Given the description of an element on the screen output the (x, y) to click on. 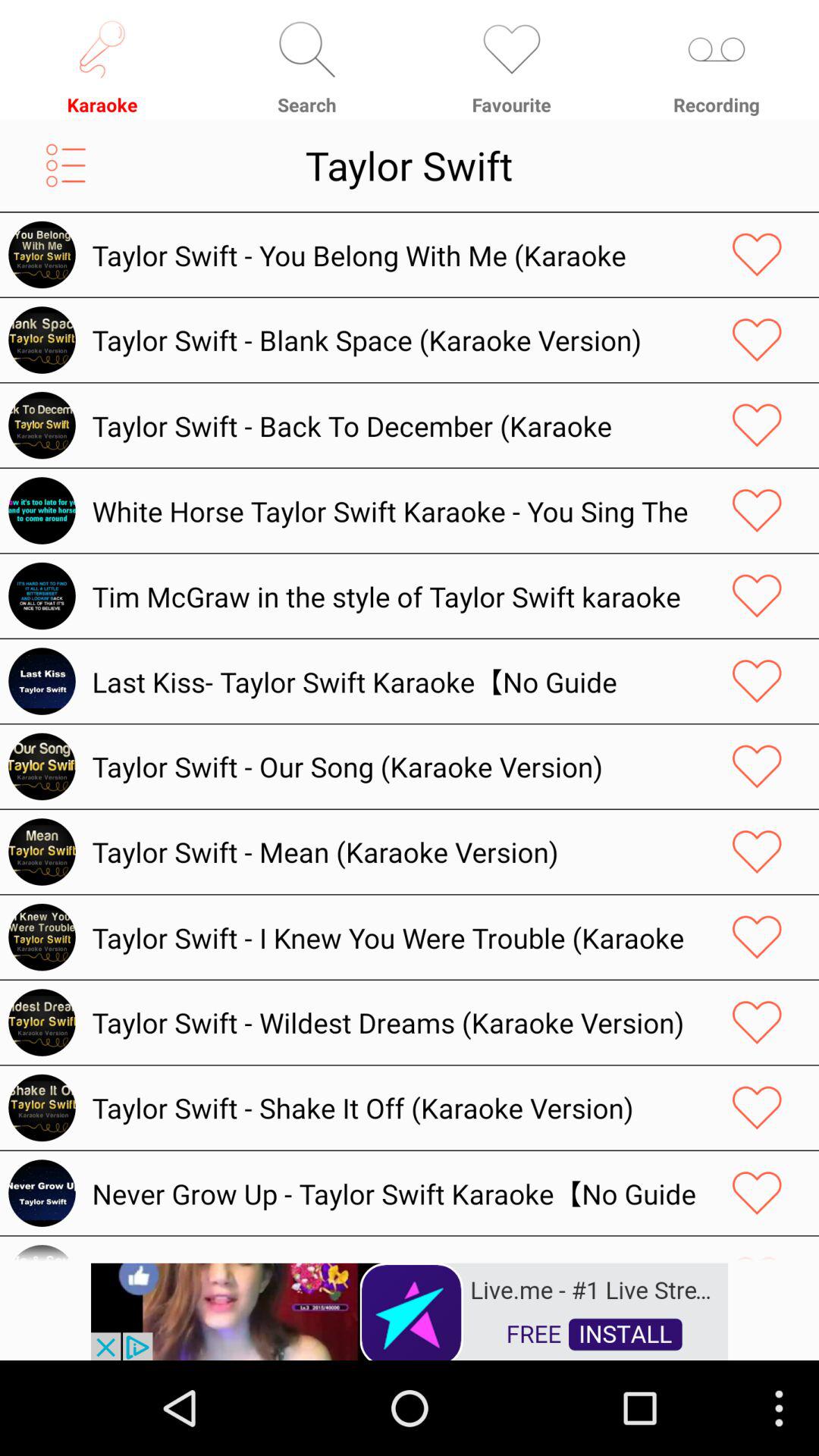
heart this track (756, 425)
